Given the description of an element on the screen output the (x, y) to click on. 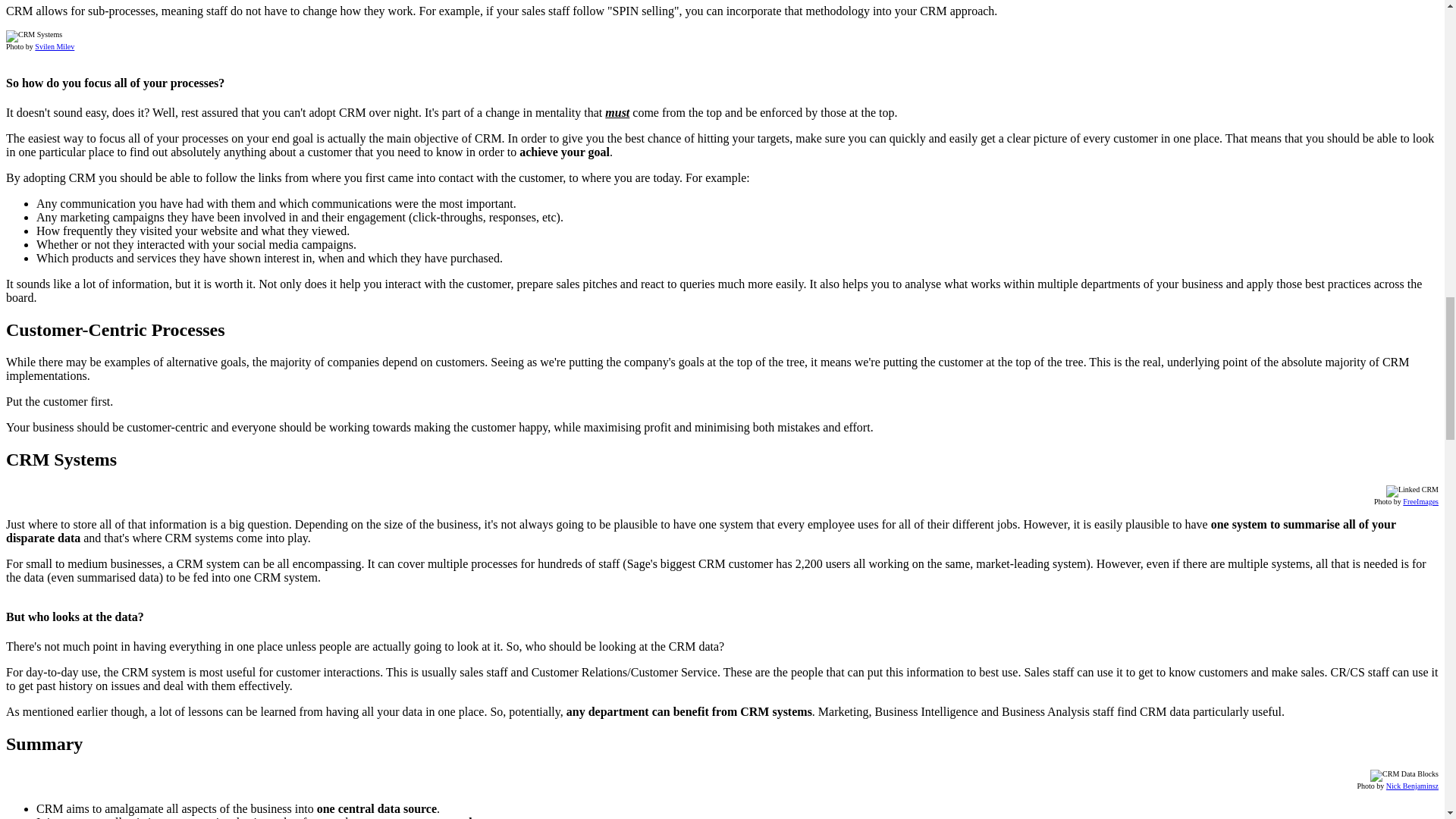
Svilen Milev (54, 46)
